Given the description of an element on the screen output the (x, y) to click on. 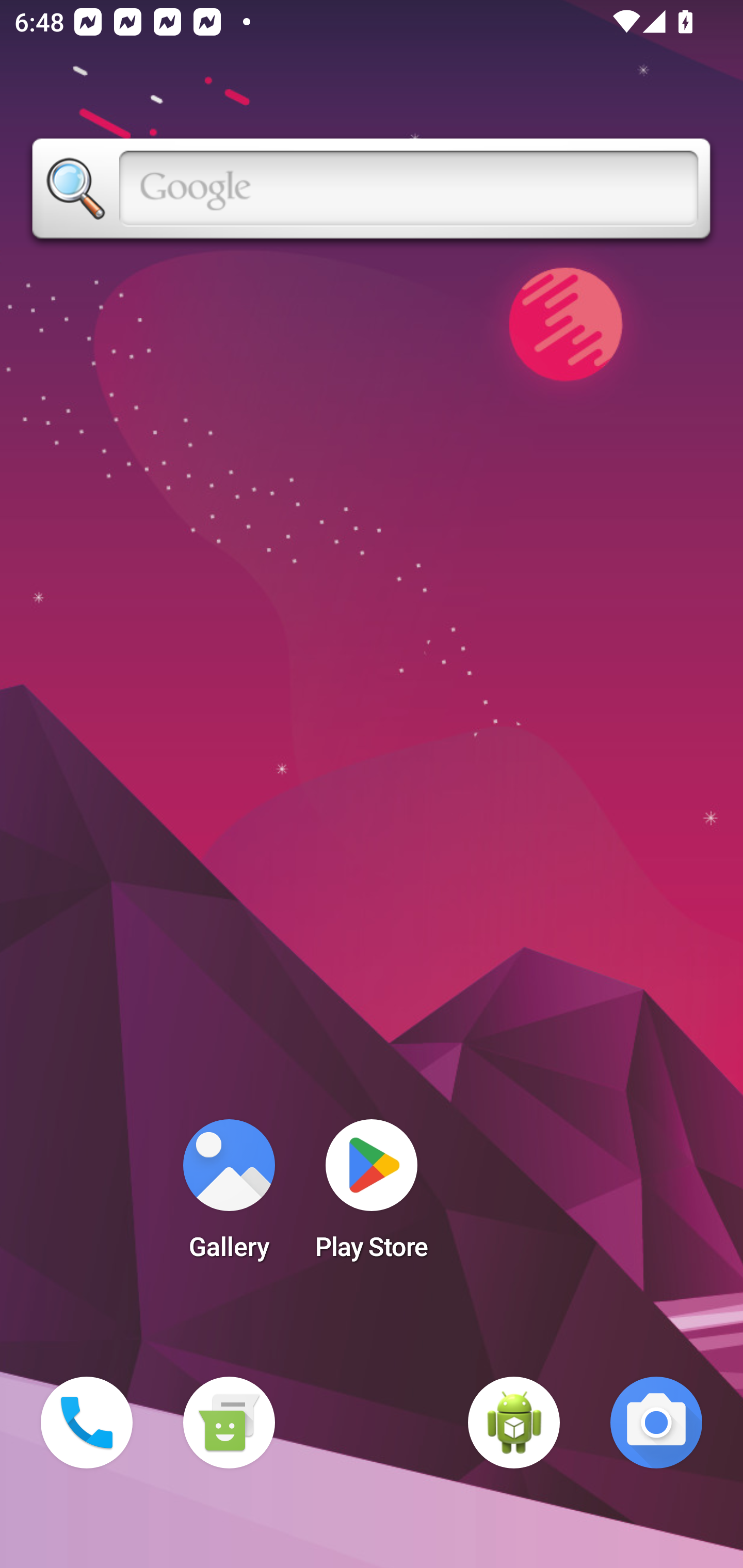
Gallery (228, 1195)
Play Store (371, 1195)
Phone (86, 1422)
Messaging (228, 1422)
WebView Browser Tester (513, 1422)
Camera (656, 1422)
